Given the description of an element on the screen output the (x, y) to click on. 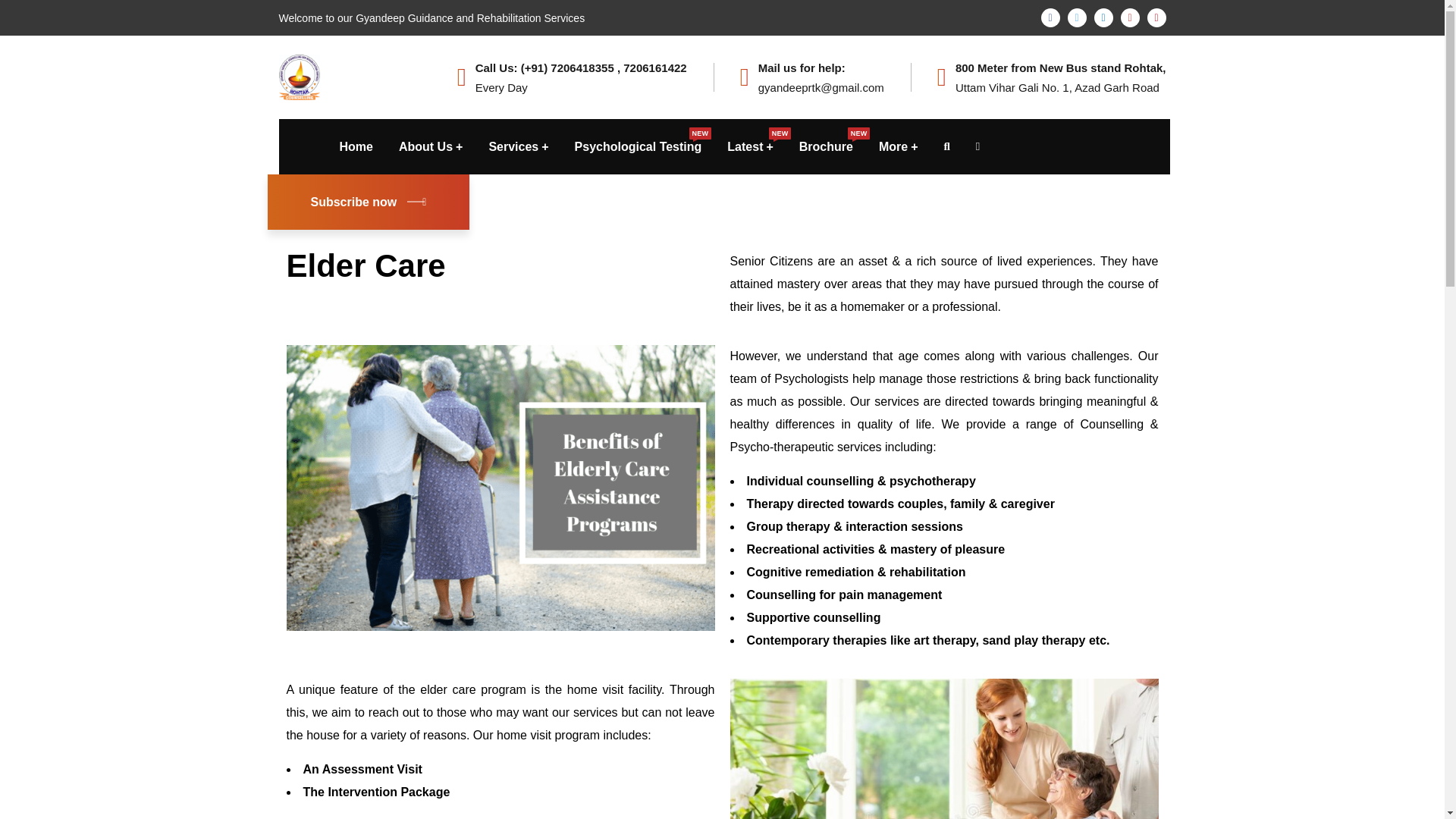
Services (517, 146)
GyandeepRtk (638, 146)
About Us (299, 75)
